Given the description of an element on the screen output the (x, y) to click on. 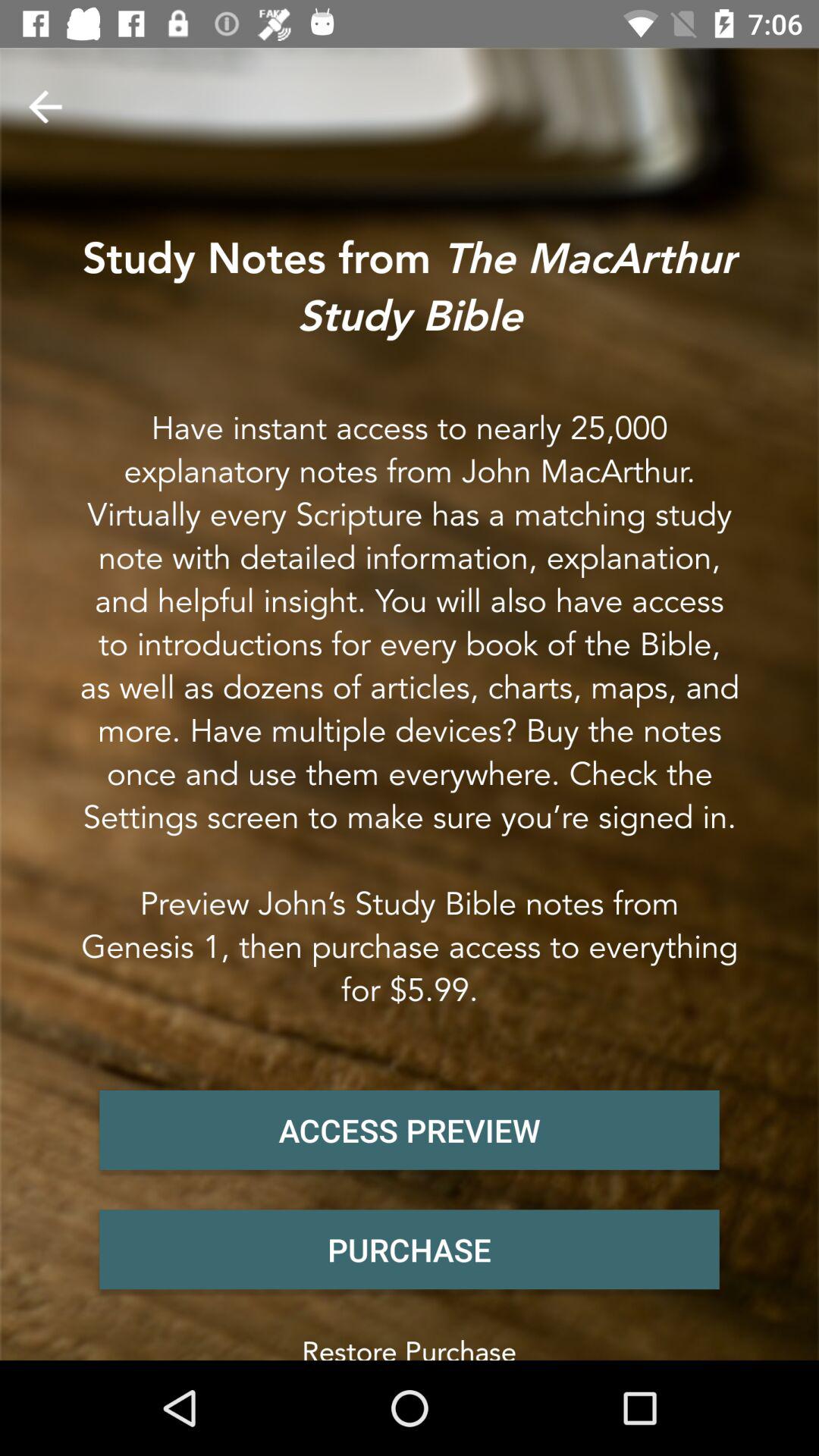
turn off the restore purchase item (409, 1344)
